Given the description of an element on the screen output the (x, y) to click on. 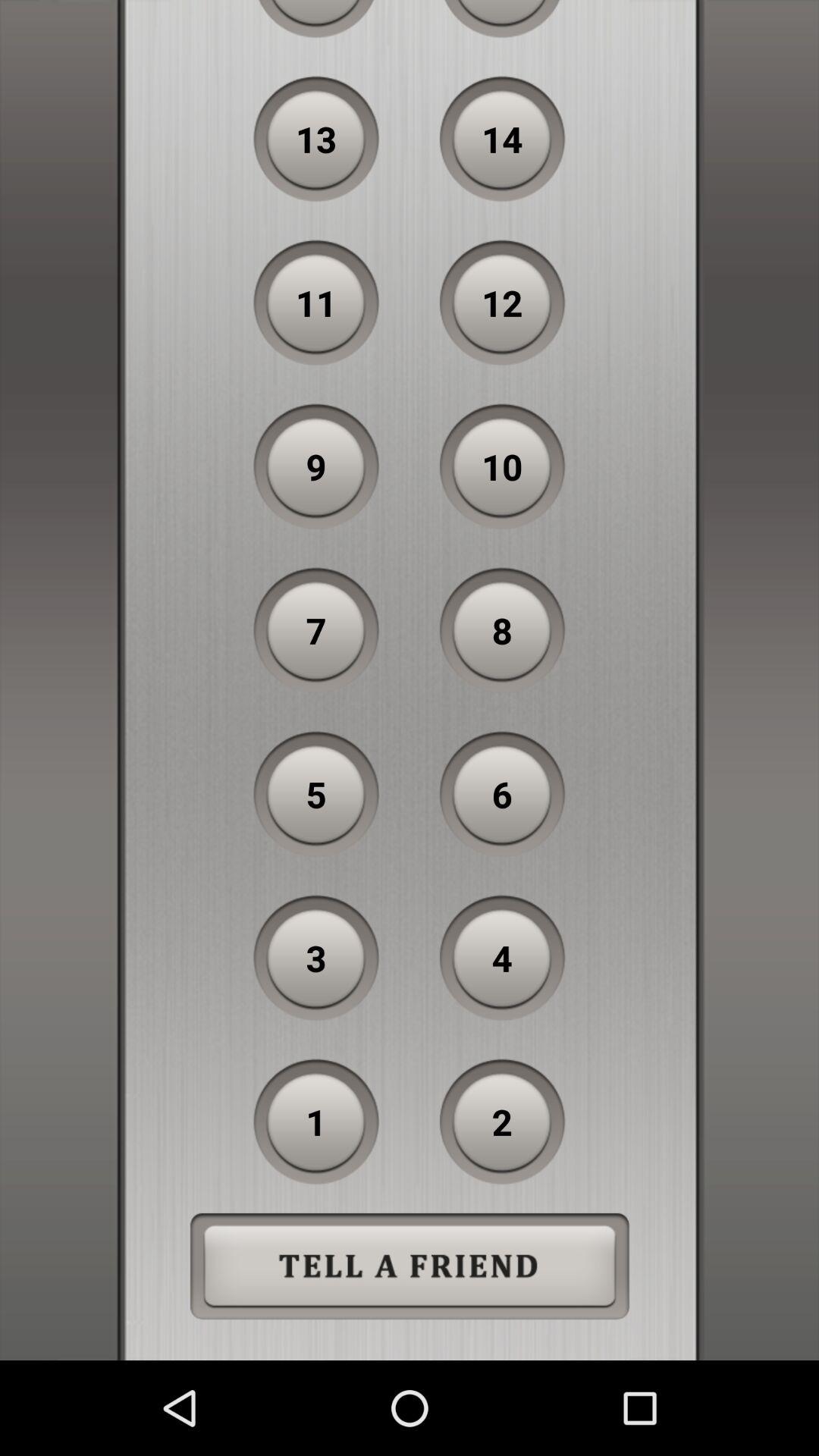
turn on the icon above 8 button (502, 466)
